Given the description of an element on the screen output the (x, y) to click on. 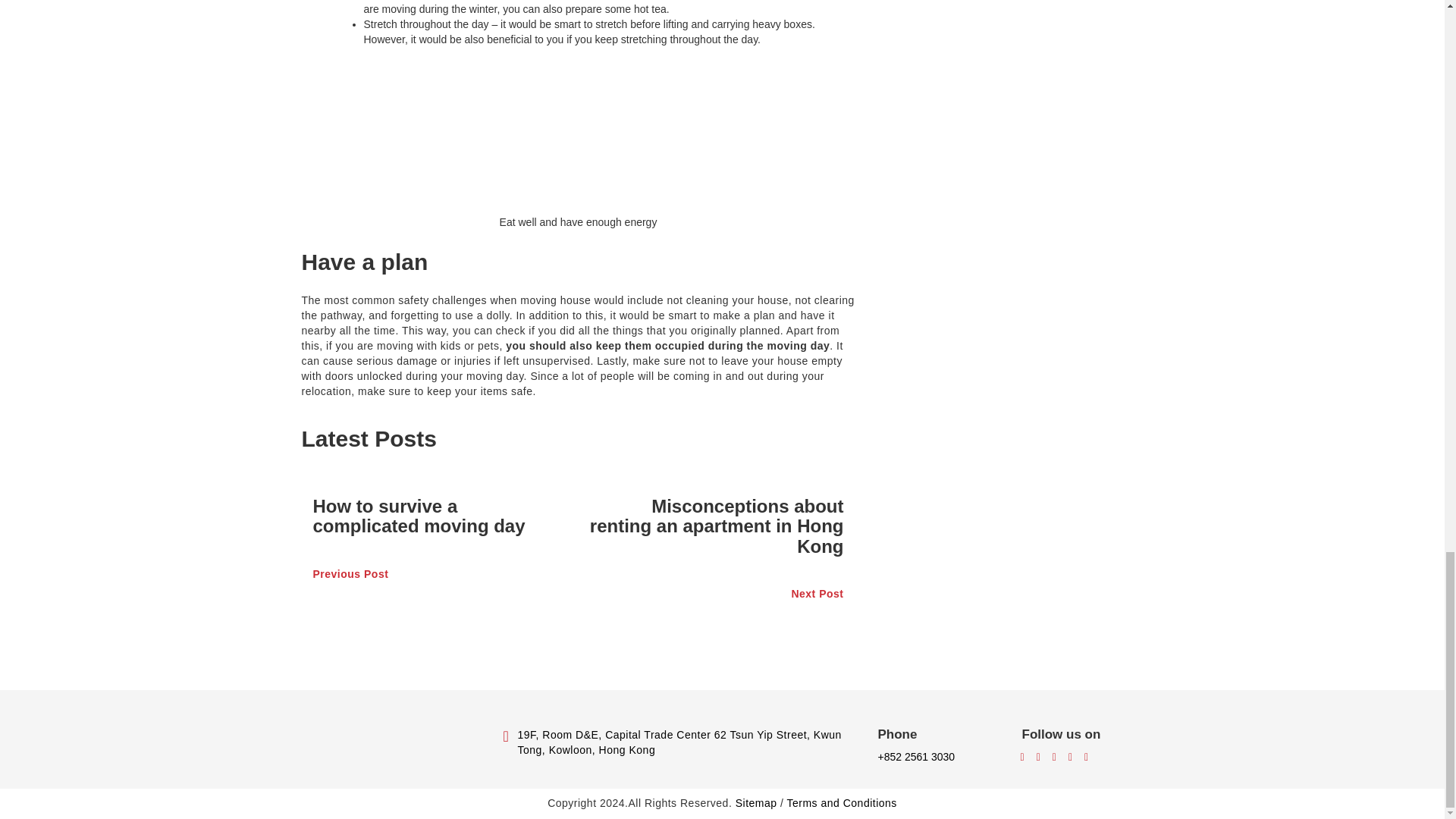
Terms and Conditions (841, 802)
Next Post (716, 594)
Previous Post (439, 574)
Sitemap (756, 802)
